Given the description of an element on the screen output the (x, y) to click on. 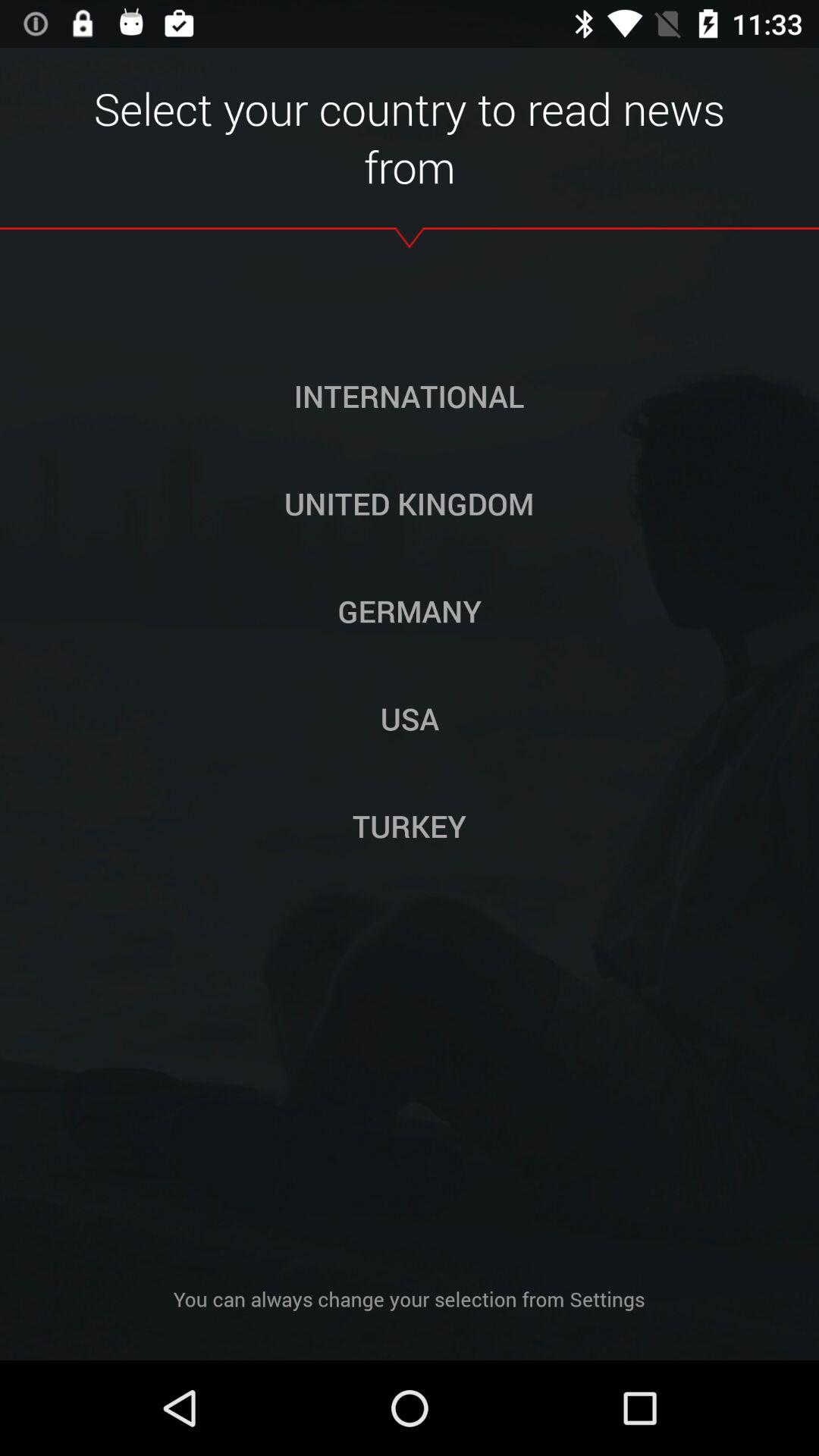
turn on button above united kingdom (409, 395)
